Given the description of an element on the screen output the (x, y) to click on. 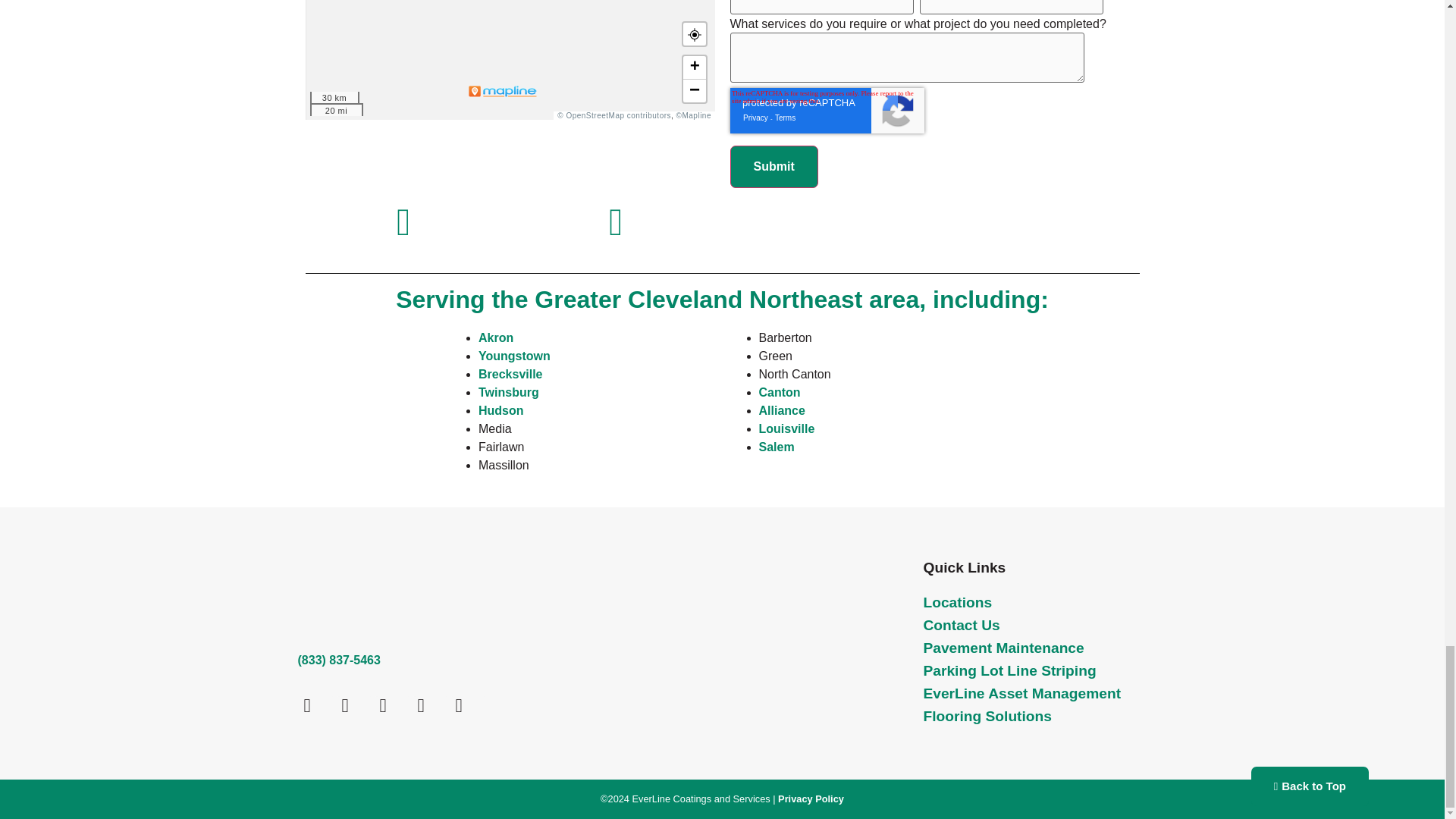
Submit (772, 166)
reCAPTCHA (826, 110)
